Given the description of an element on the screen output the (x, y) to click on. 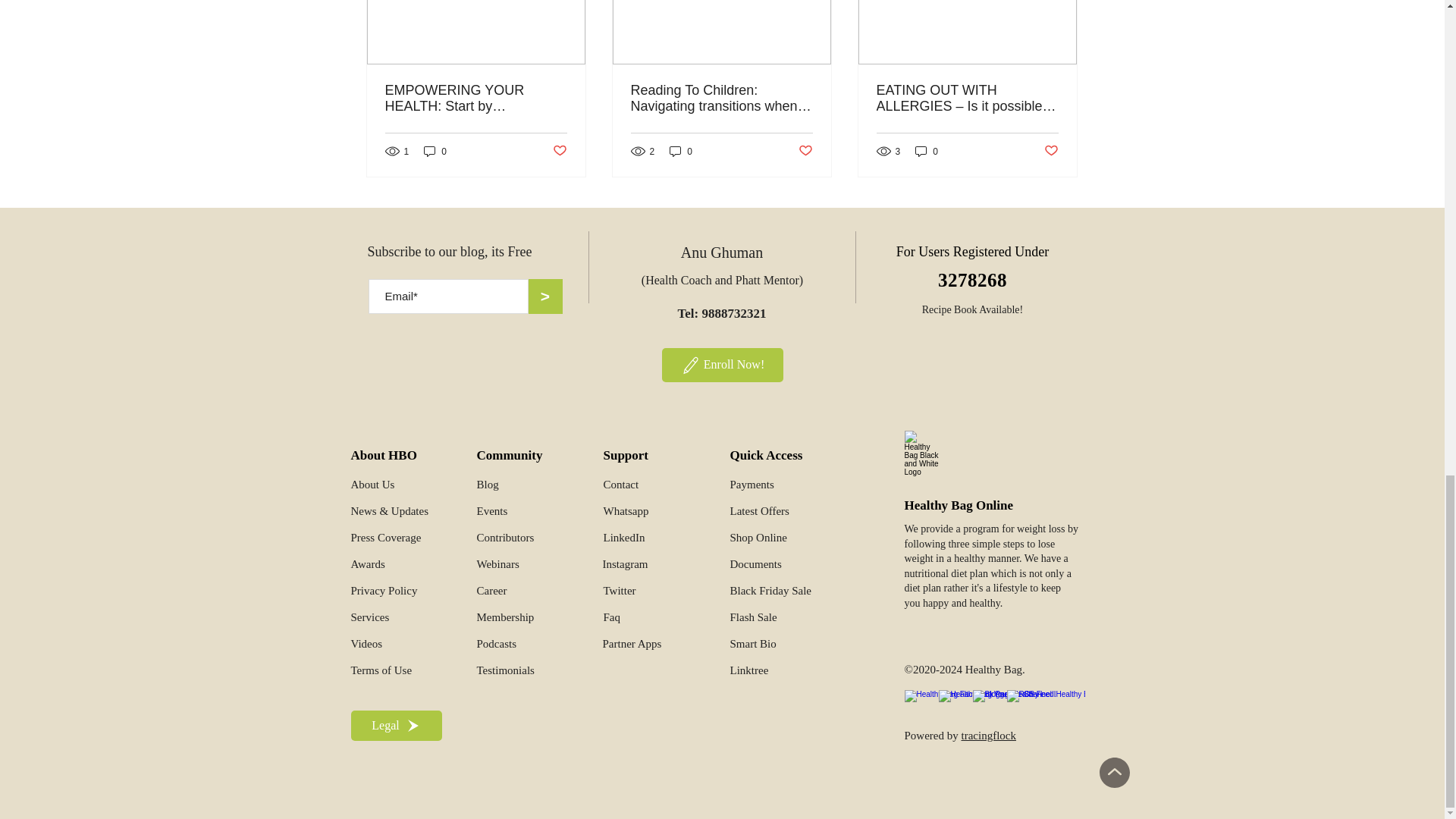
EMPOWERING YOUR HEALTH: Start by Transforming Your Thoughts (476, 98)
